Given the description of an element on the screen output the (x, y) to click on. 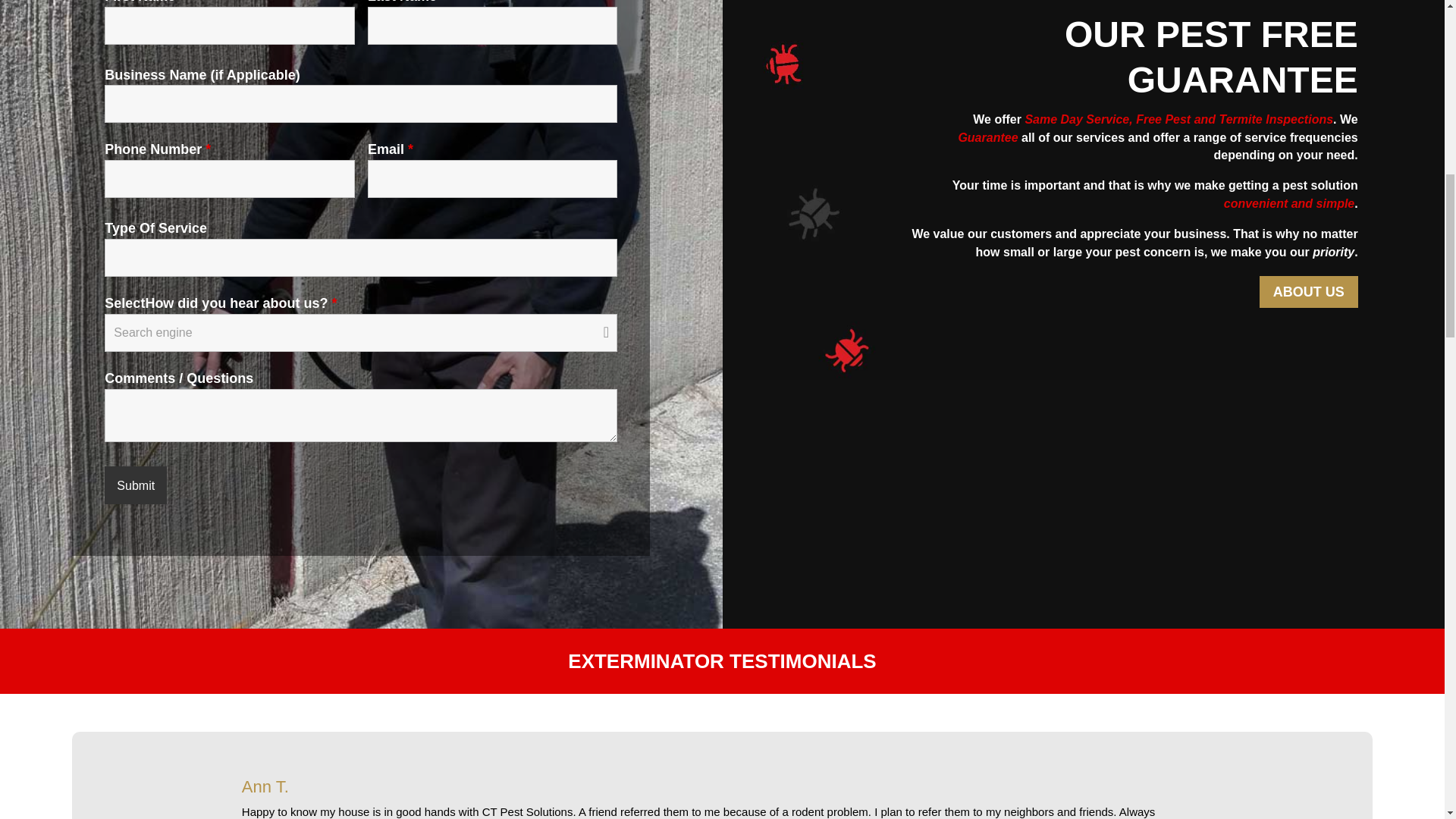
Submit (135, 485)
